Given the description of an element on the screen output the (x, y) to click on. 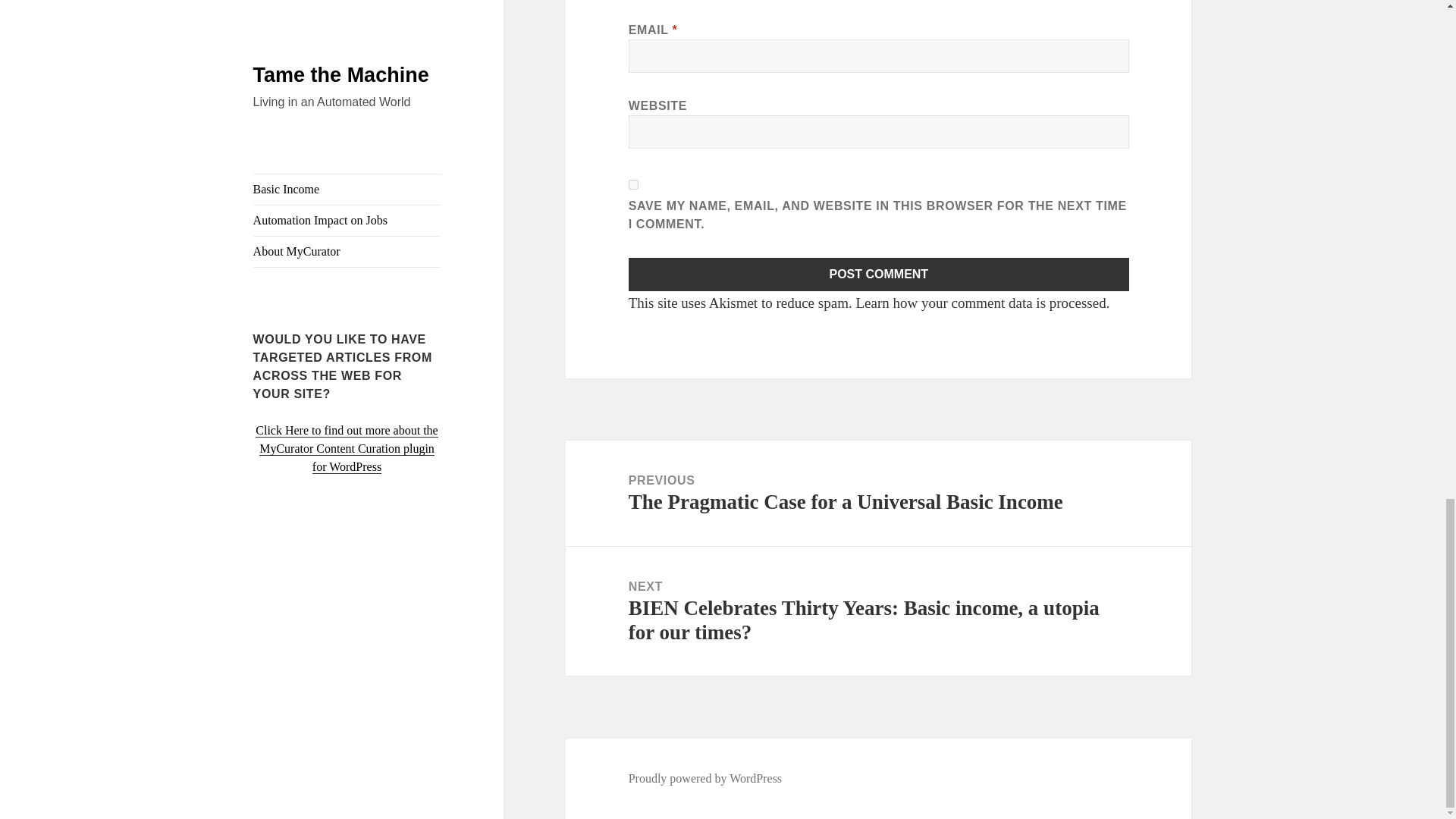
yes (633, 184)
Post Comment (878, 274)
Proudly powered by WordPress (704, 778)
Learn how your comment data is processed (980, 302)
Post Comment (878, 274)
